Given the description of an element on the screen output the (x, y) to click on. 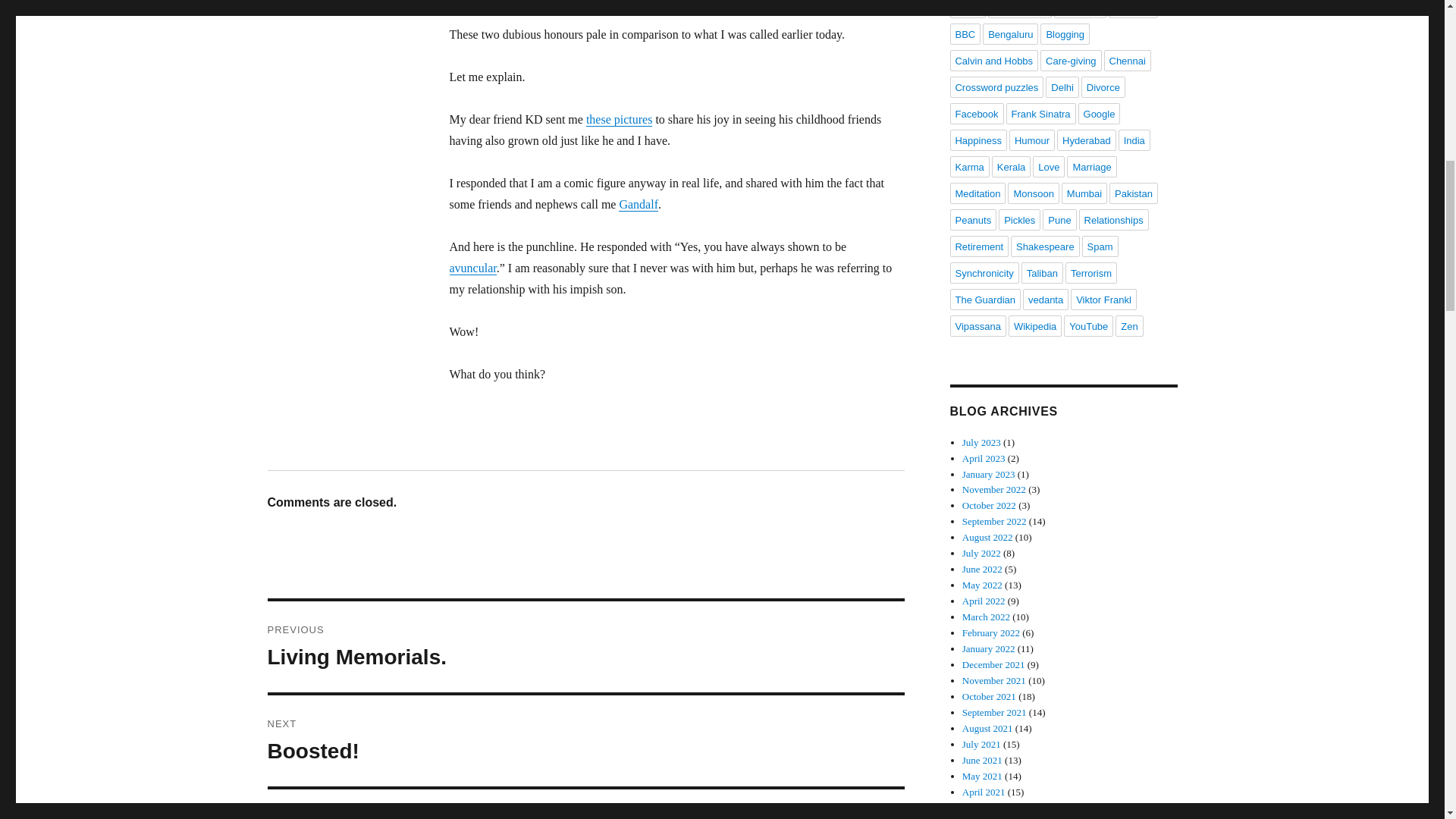
Blogging (1065, 34)
BBC (964, 34)
Australia (1132, 9)
Chennai (1127, 60)
avuncular (585, 740)
Calvin and Hobbs (472, 267)
Bengaluru (993, 60)
Care-giving (585, 646)
these pictures (1010, 34)
Ahmedabad (1070, 60)
Gandalf (619, 119)
Ajit Ninan (1019, 9)
Aging (638, 204)
